Given the description of an element on the screen output the (x, y) to click on. 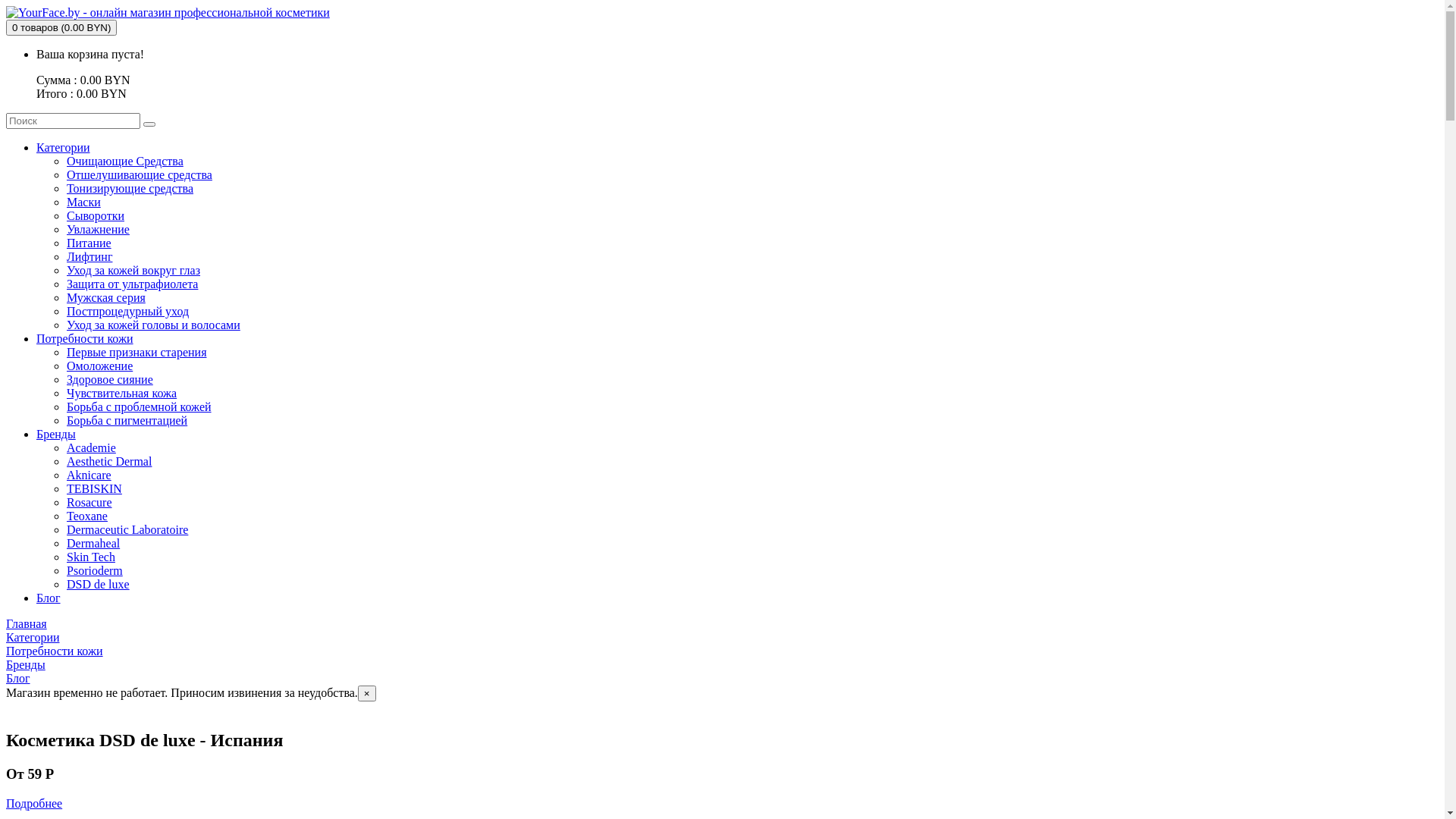
Aknicare Element type: text (88, 474)
Teoxane Element type: text (86, 515)
TEBISKIN Element type: text (94, 488)
Dermaceutic Laboratoire Element type: text (127, 529)
Aesthetic Dermal Element type: text (108, 461)
Psorioderm Element type: text (94, 570)
Skin Tech Element type: text (90, 556)
Dermaheal Element type: text (92, 542)
Rosacure Element type: text (89, 501)
Academie Element type: text (91, 447)
DSD de luxe Element type: text (97, 583)
